Given the description of an element on the screen output the (x, y) to click on. 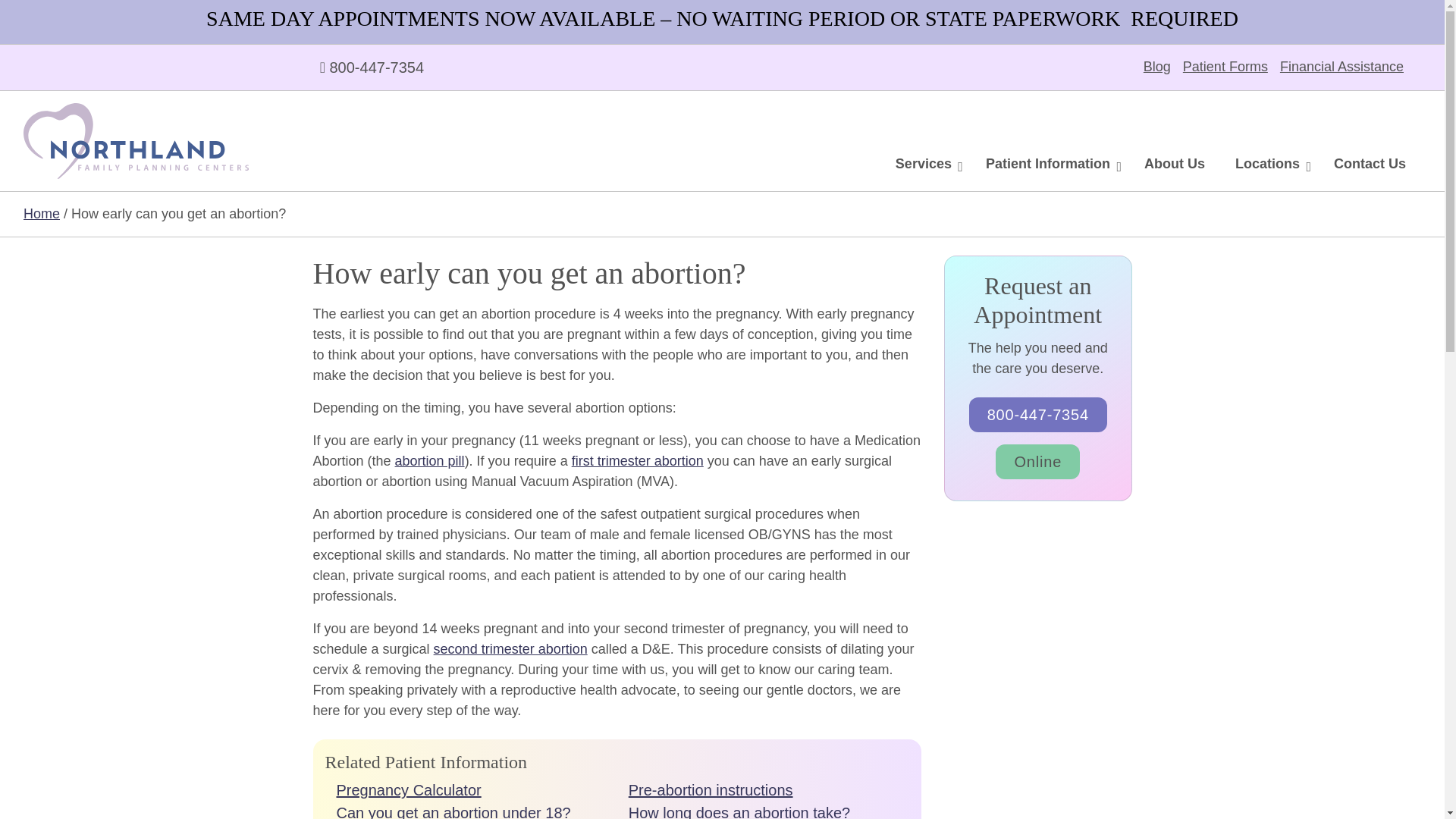
Blog (1156, 66)
800-447-7354 (371, 67)
Financial Assistance (1341, 66)
Locations (1269, 164)
Patient Information (1050, 164)
Patient Forms (1225, 66)
Patient Forms (1225, 66)
Call Northland Family Planning. (371, 67)
Blog (1156, 66)
About Us (1174, 164)
